Given the description of an element on the screen output the (x, y) to click on. 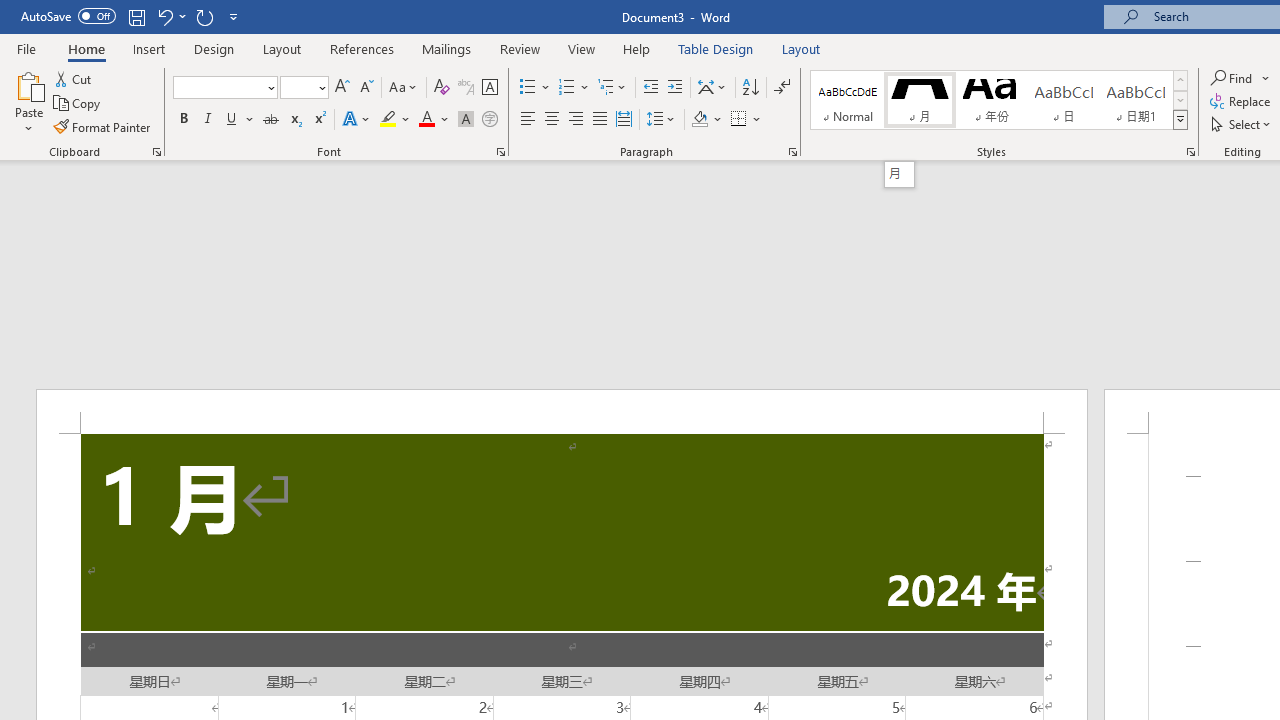
AutomationID: QuickStylesGallery (999, 99)
Styles... (1190, 151)
Change Case (404, 87)
